Given the description of an element on the screen output the (x, y) to click on. 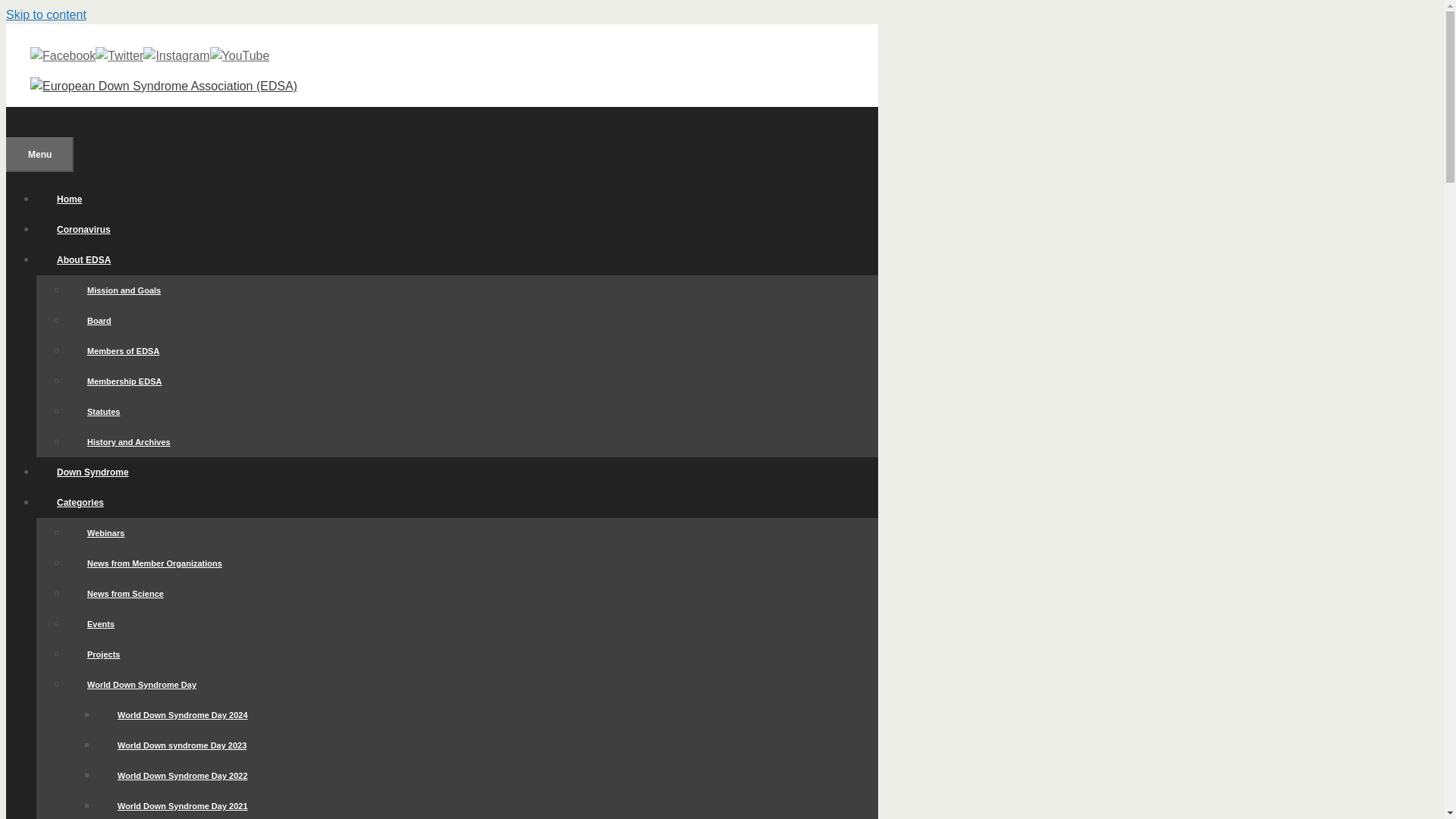
About EDSA (93, 259)
History and Archives (128, 442)
Home (68, 199)
Skip to content (45, 14)
Skip to content (45, 14)
Mission and Goals (123, 290)
Categories (90, 502)
Members of EDSA (122, 351)
World Down Syndrome Day 2024 (182, 714)
Coronavirus (83, 229)
Membership EDSA (124, 381)
Webinars (105, 532)
Menu (39, 154)
 Facebook (63, 55)
Down Syndrome (92, 471)
